Given the description of an element on the screen output the (x, y) to click on. 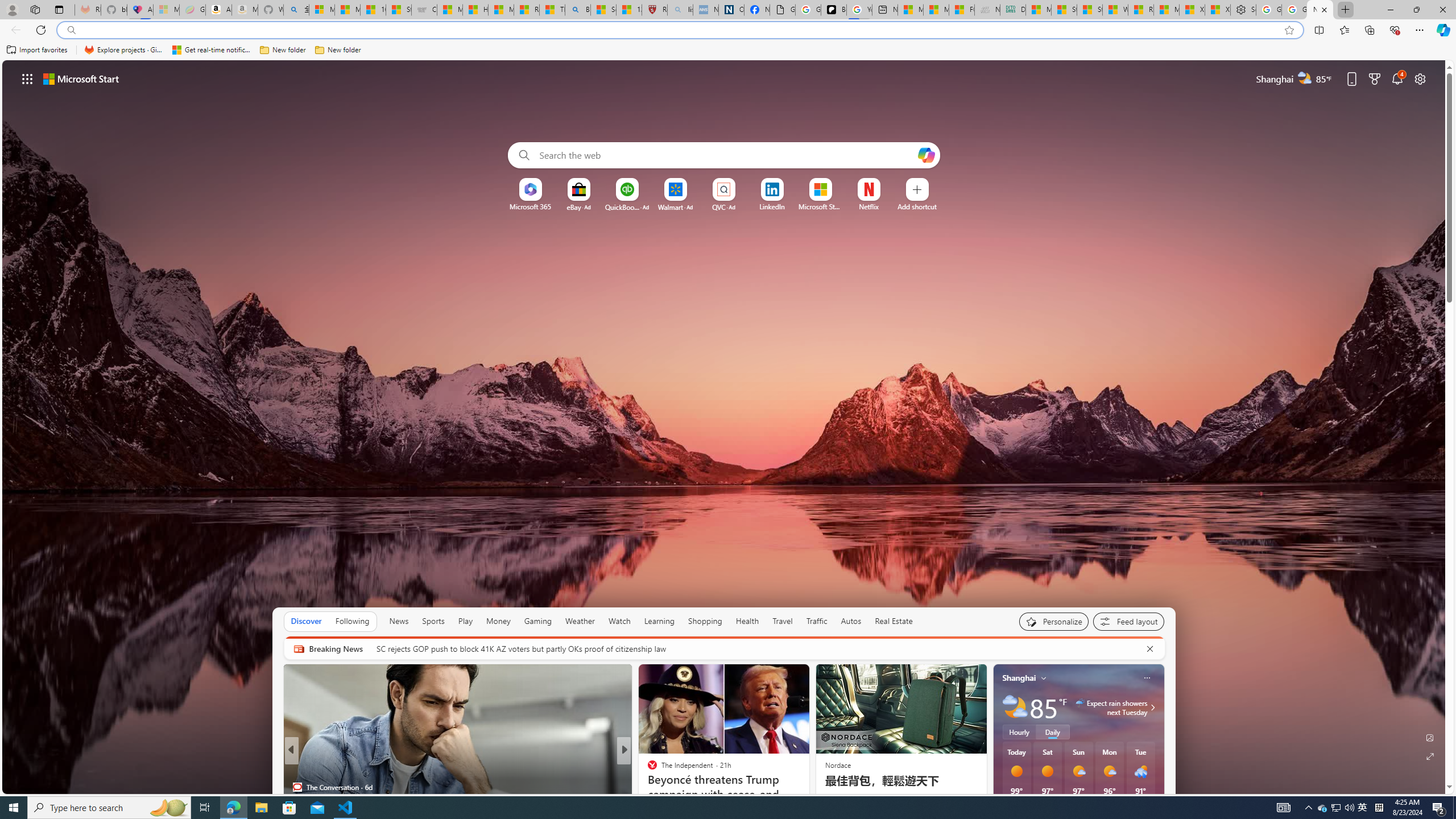
Shopping (705, 621)
Edit Background (1430, 737)
Be Smart | creating Science videos | Patreon (833, 9)
